Given the description of an element on the screen output the (x, y) to click on. 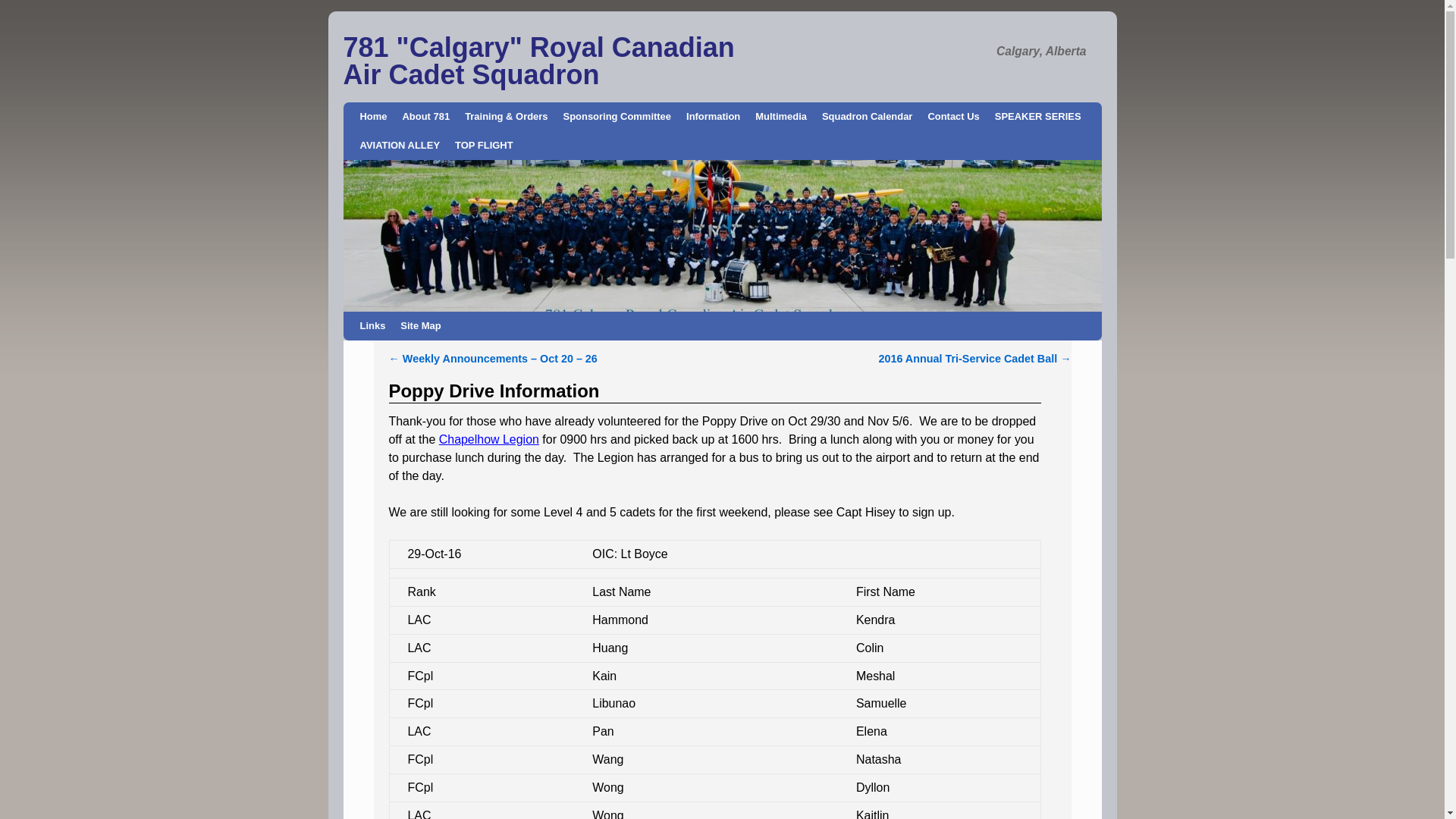
About 781 Element type: text (425, 116)
Chapelhow Legion Element type: text (489, 439)
AVIATION ALLEY Element type: text (399, 145)
Contact Us Element type: text (952, 116)
Site Map Element type: text (420, 325)
781 "Calgary" Royal Canadian Air Cadet Squadron Element type: text (538, 60)
Squadron Calendar Element type: text (866, 116)
Poppy Drive Information Element type: text (493, 390)
Training & Orders Element type: text (506, 116)
Home Element type: text (372, 116)
Information Element type: text (712, 116)
SPEAKER SERIES Element type: text (1037, 116)
Sponsoring Committee Element type: text (617, 116)
Multimedia Element type: text (780, 116)
TOP FLIGHT Element type: text (483, 145)
Links Element type: text (371, 325)
